Given the description of an element on the screen output the (x, y) to click on. 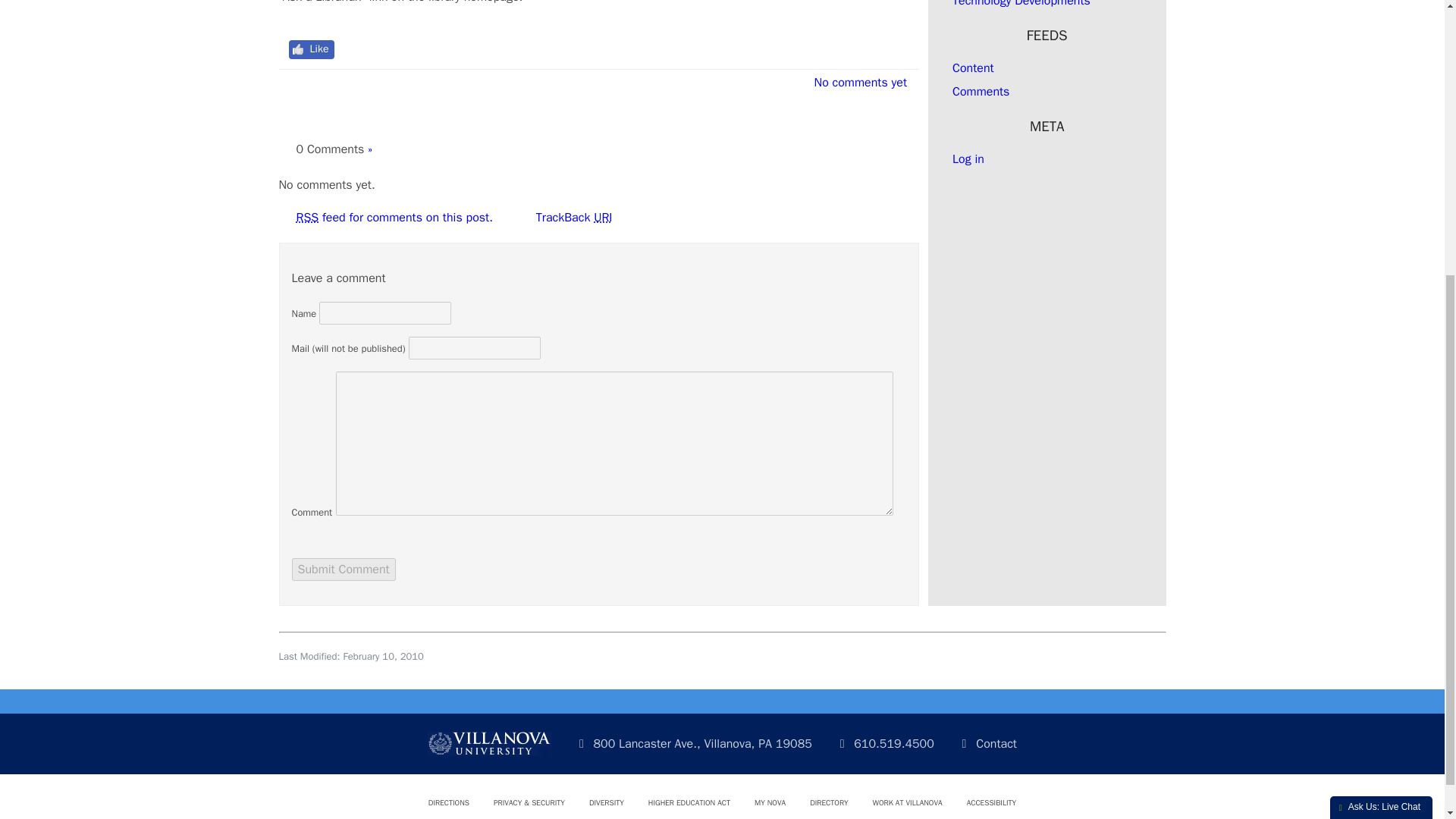
Comments (980, 91)
RSS feed for comments on this post. (393, 217)
Technology Developments (1021, 3)
Submit Comment (342, 568)
TrackBack URI (569, 216)
Syndicate this site using RSS (973, 68)
Content (973, 68)
No comments yet (855, 82)
Submit Comment (342, 568)
Log in (968, 159)
